Given the description of an element on the screen output the (x, y) to click on. 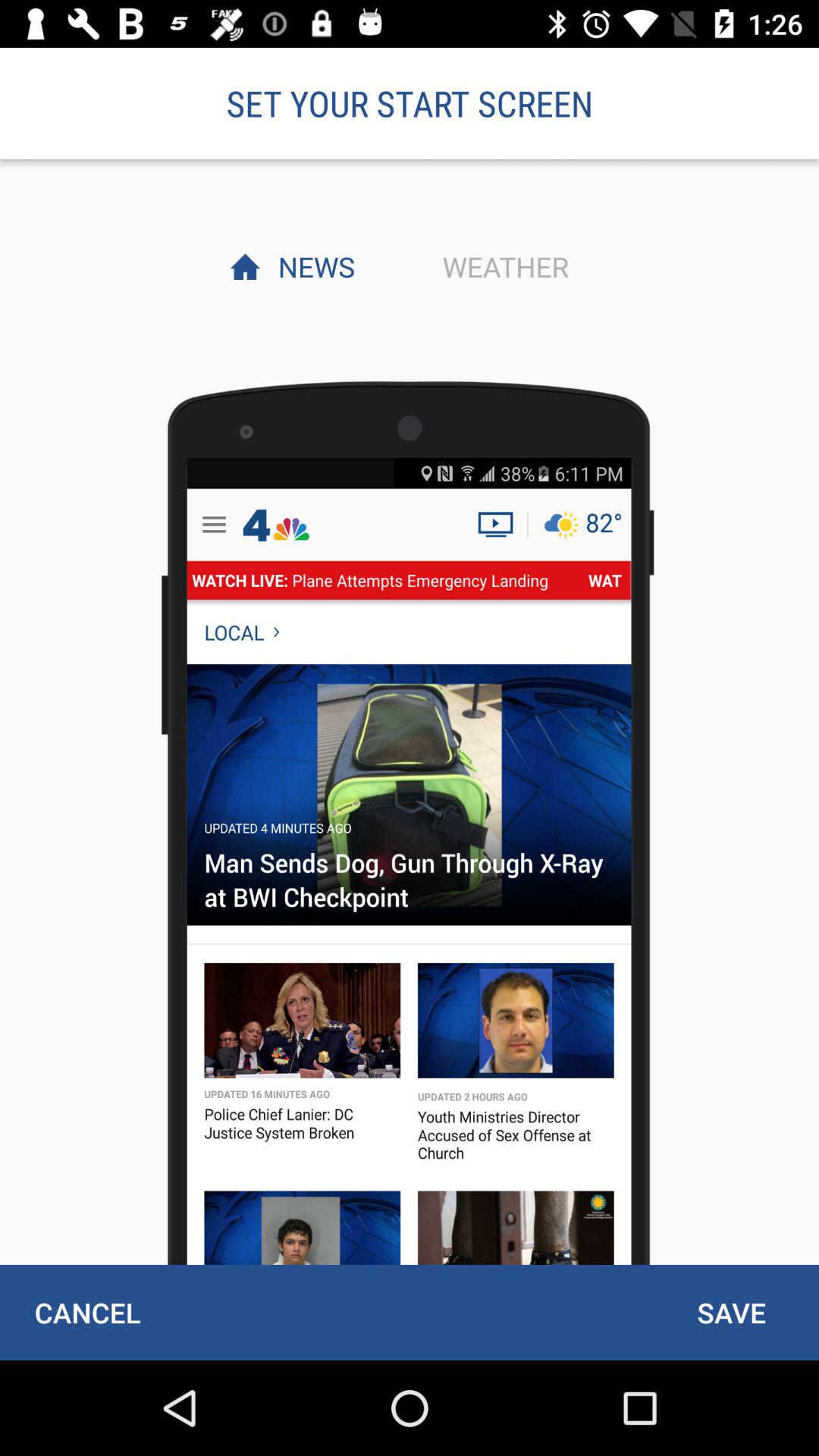
open the icon below the set your start (501, 266)
